Given the description of an element on the screen output the (x, y) to click on. 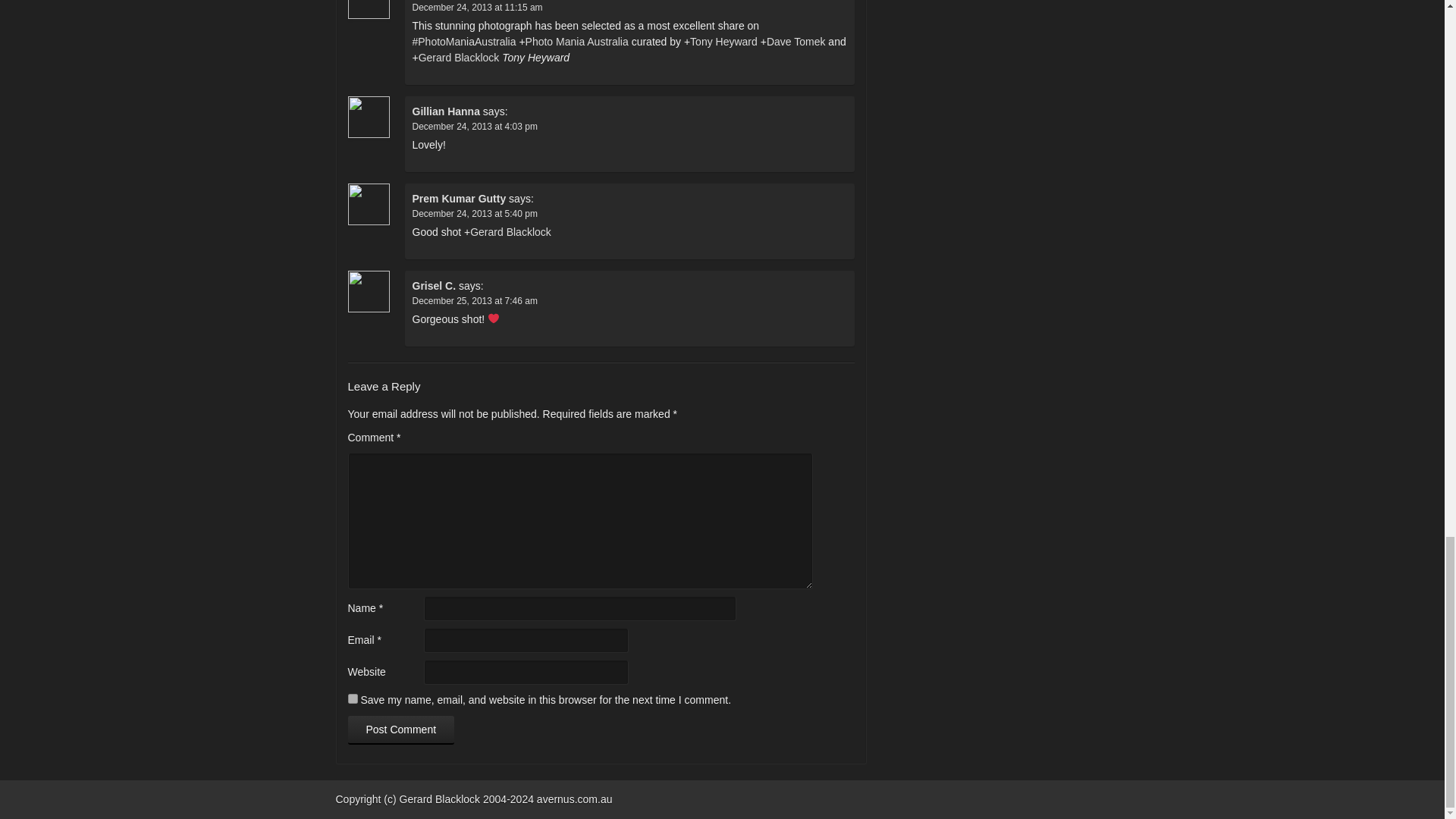
December 24, 2013 at 5:40 pm (474, 213)
December 24, 2013 at 4:03 pm (474, 126)
Gillian Hanna (446, 110)
Prem Kumar Gutty (459, 198)
yes (351, 698)
Dave Tomek (796, 40)
Gerard Blacklock (459, 57)
Tony Heyward (723, 40)
Photo Mania Australia (576, 40)
December 24, 2013 at 11:15 am (477, 6)
Post Comment (400, 729)
